Given the description of an element on the screen output the (x, y) to click on. 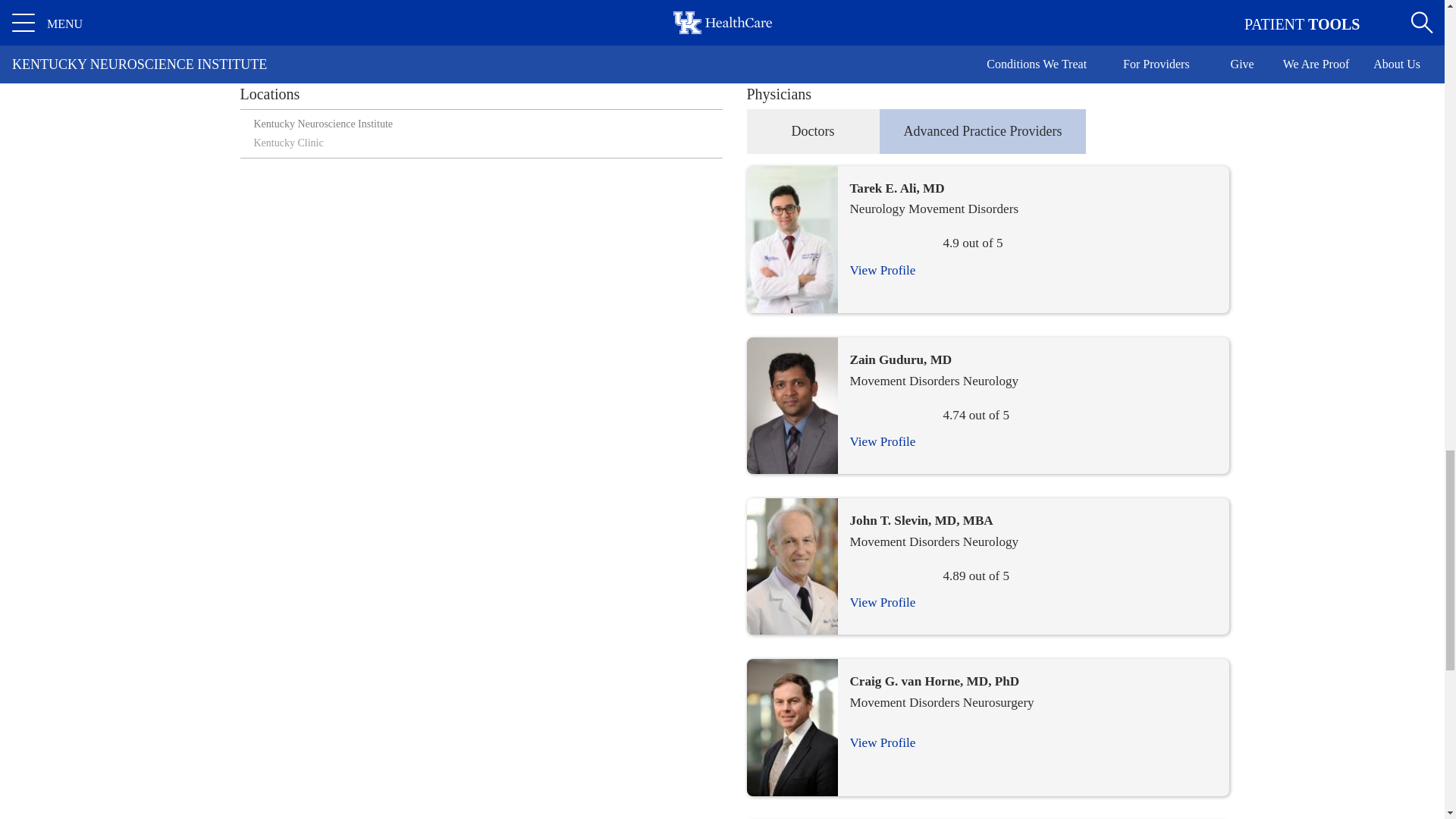
LOAD MORE (721, 6)
Load more items (722, 6)
